Given the description of an element on the screen output the (x, y) to click on. 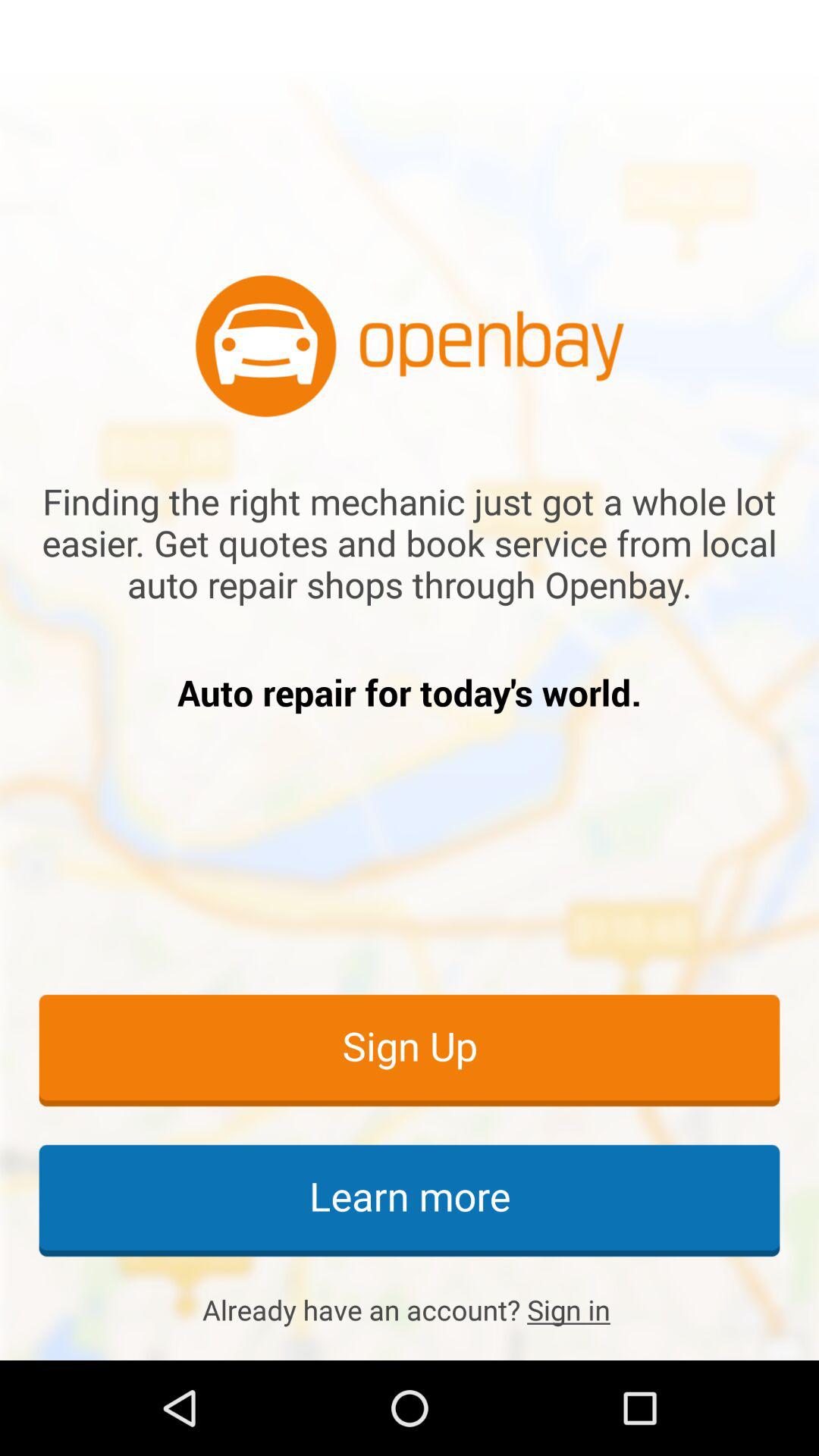
click sign up icon (409, 1049)
